Given the description of an element on the screen output the (x, y) to click on. 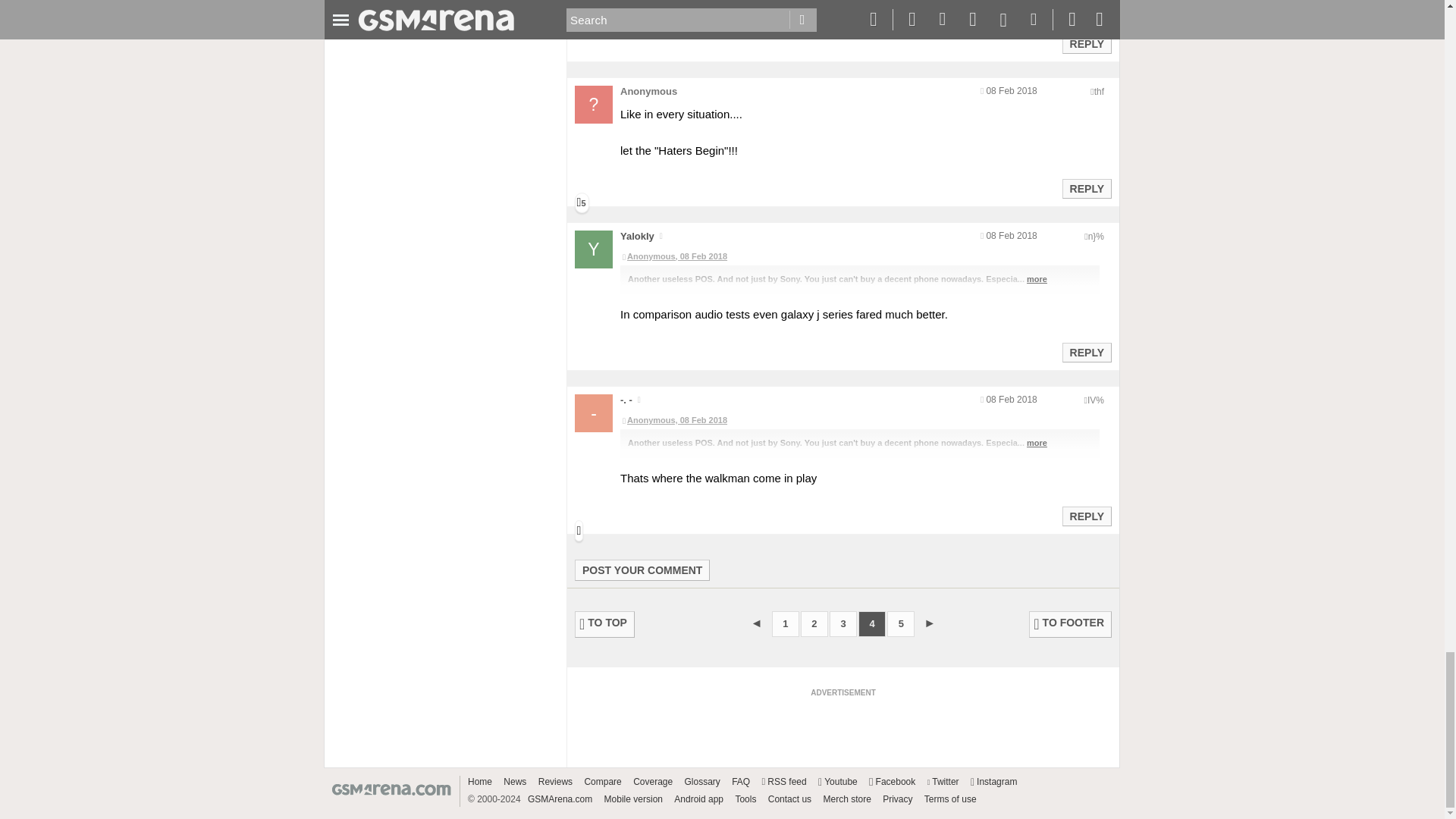
TO TOP (604, 624)
